Given the description of an element on the screen output the (x, y) to click on. 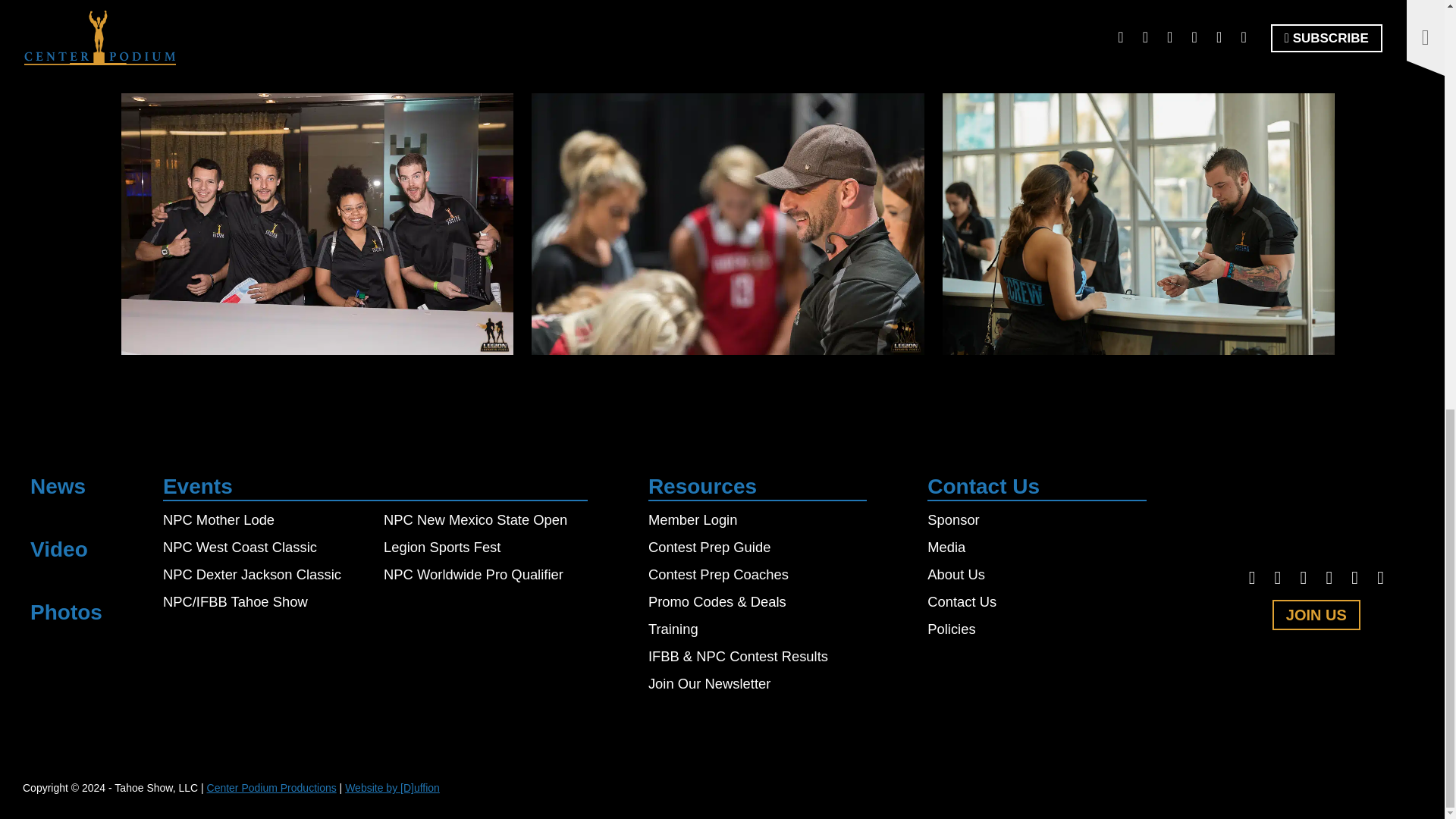
NPC Dexter Jackson Classic (251, 574)
About Us (956, 574)
NPC Worldwide Pro Qualifier (473, 574)
Media (946, 546)
Contact Us (961, 601)
News (57, 486)
Join Our Newsletter (708, 683)
Contest Prep Guide (709, 546)
Policies (951, 628)
NPC Mother Lode (219, 519)
Contest Prep Coaches (718, 574)
Photos (65, 612)
Video (58, 549)
Member Login (692, 519)
Legion Sports Fest (442, 546)
